Given the description of an element on the screen output the (x, y) to click on. 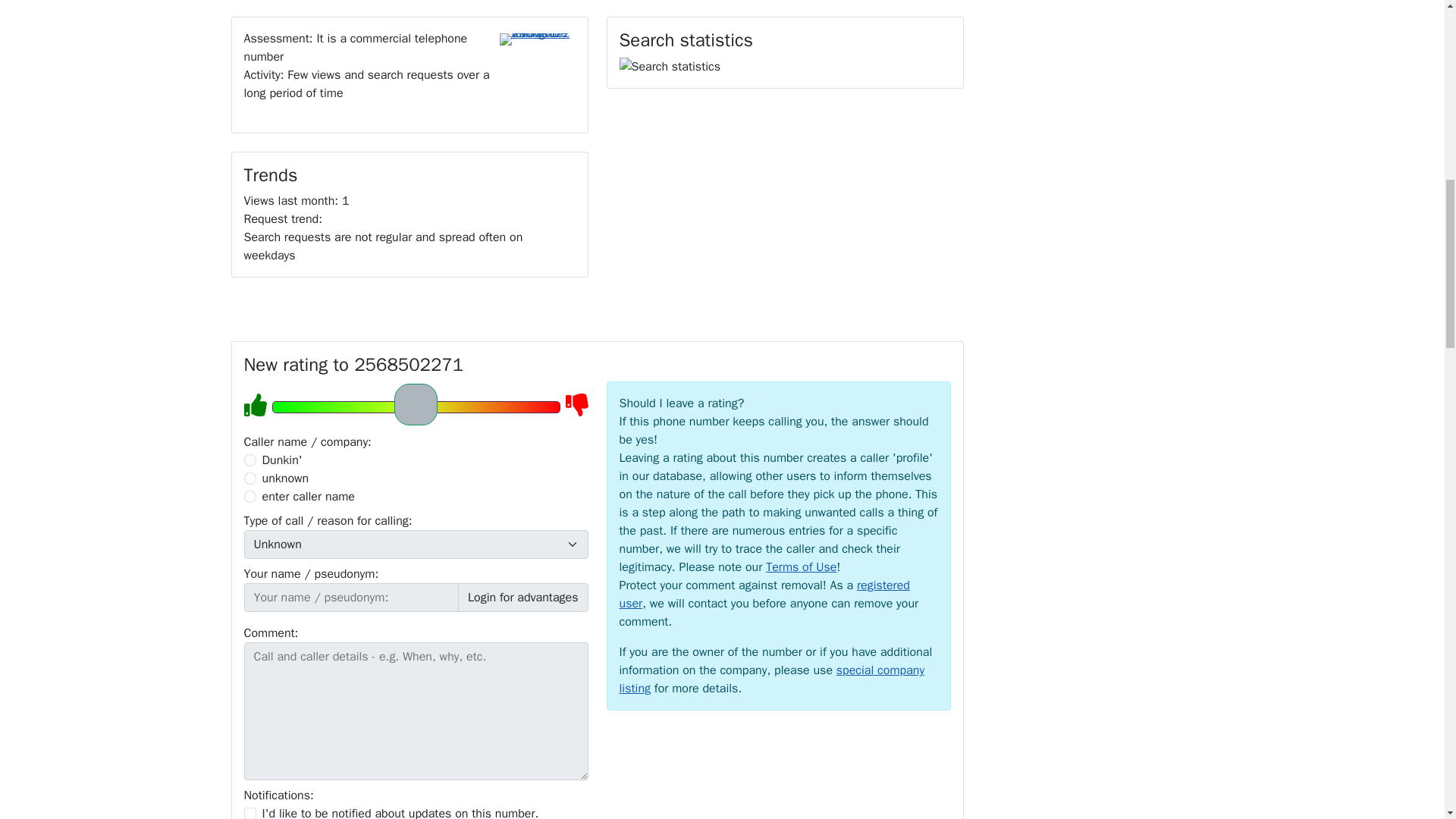
3 (250, 496)
Terms of Use (800, 566)
1 (250, 813)
special company listing (771, 679)
registered user (763, 594)
5 (414, 407)
0 (250, 460)
2 (250, 478)
Login for advantages (523, 597)
